Given the description of an element on the screen output the (x, y) to click on. 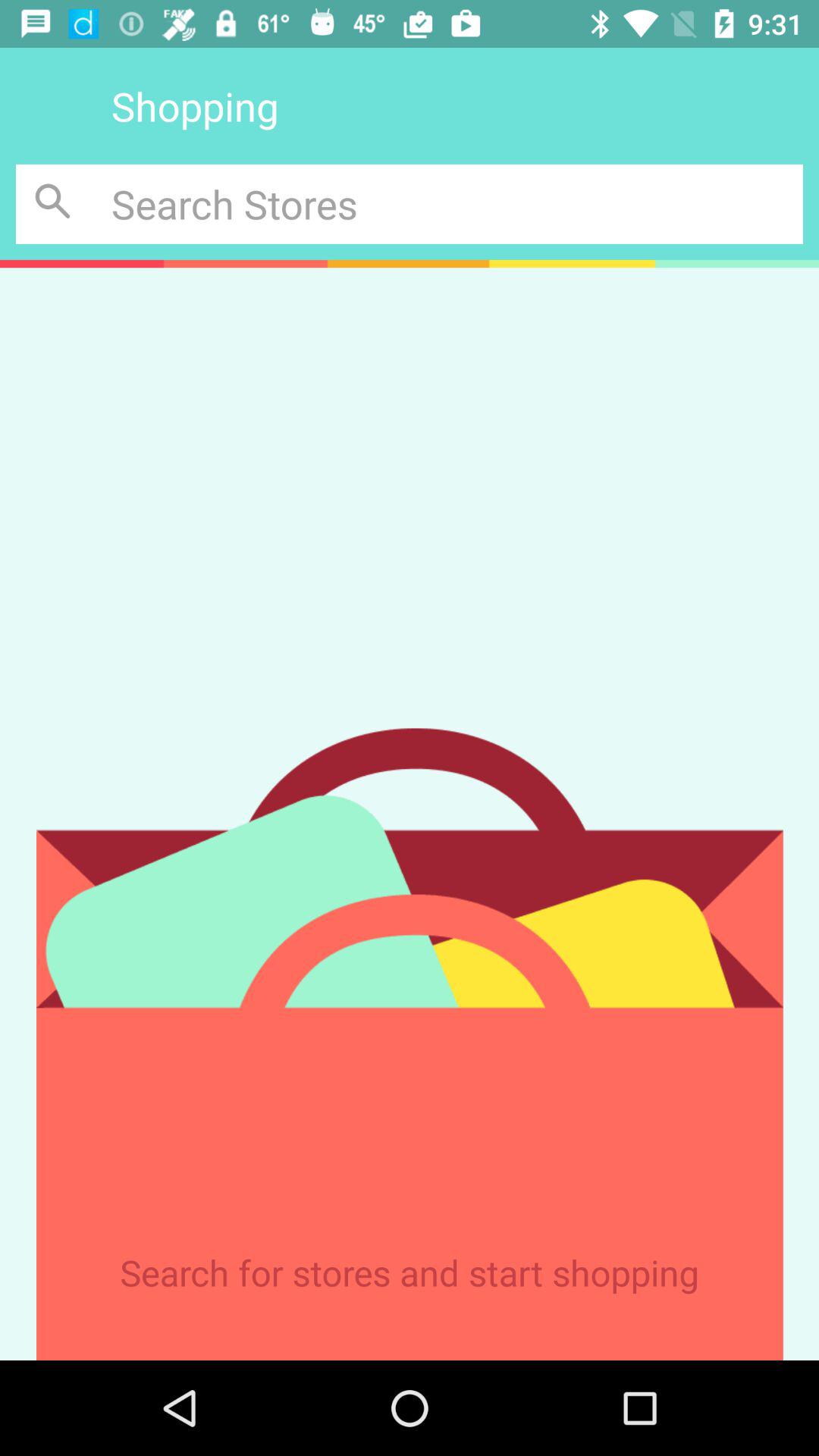
search for stores (457, 203)
